Given the description of an element on the screen output the (x, y) to click on. 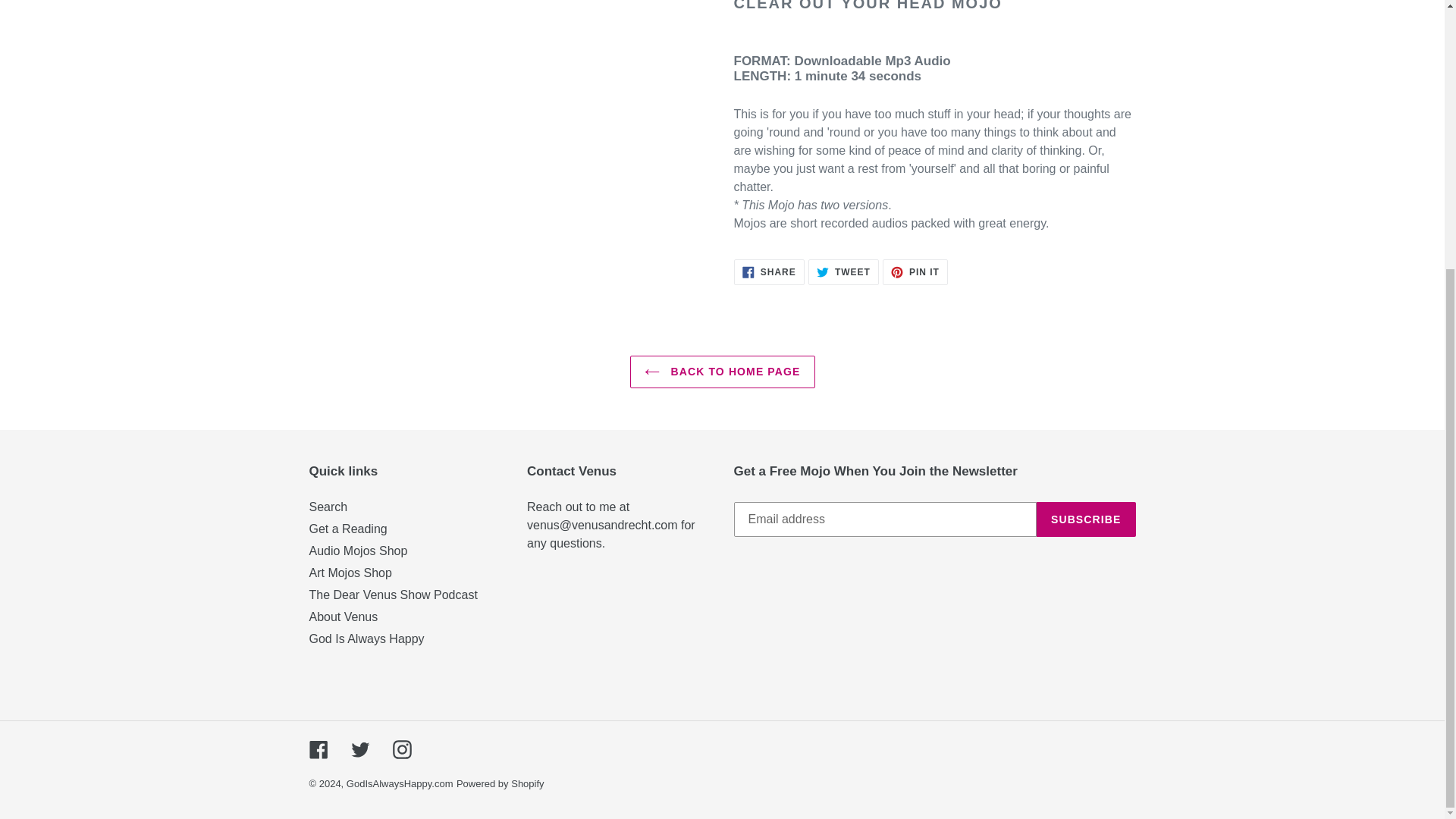
BACK TO HOME PAGE (914, 272)
